Given the description of an element on the screen output the (x, y) to click on. 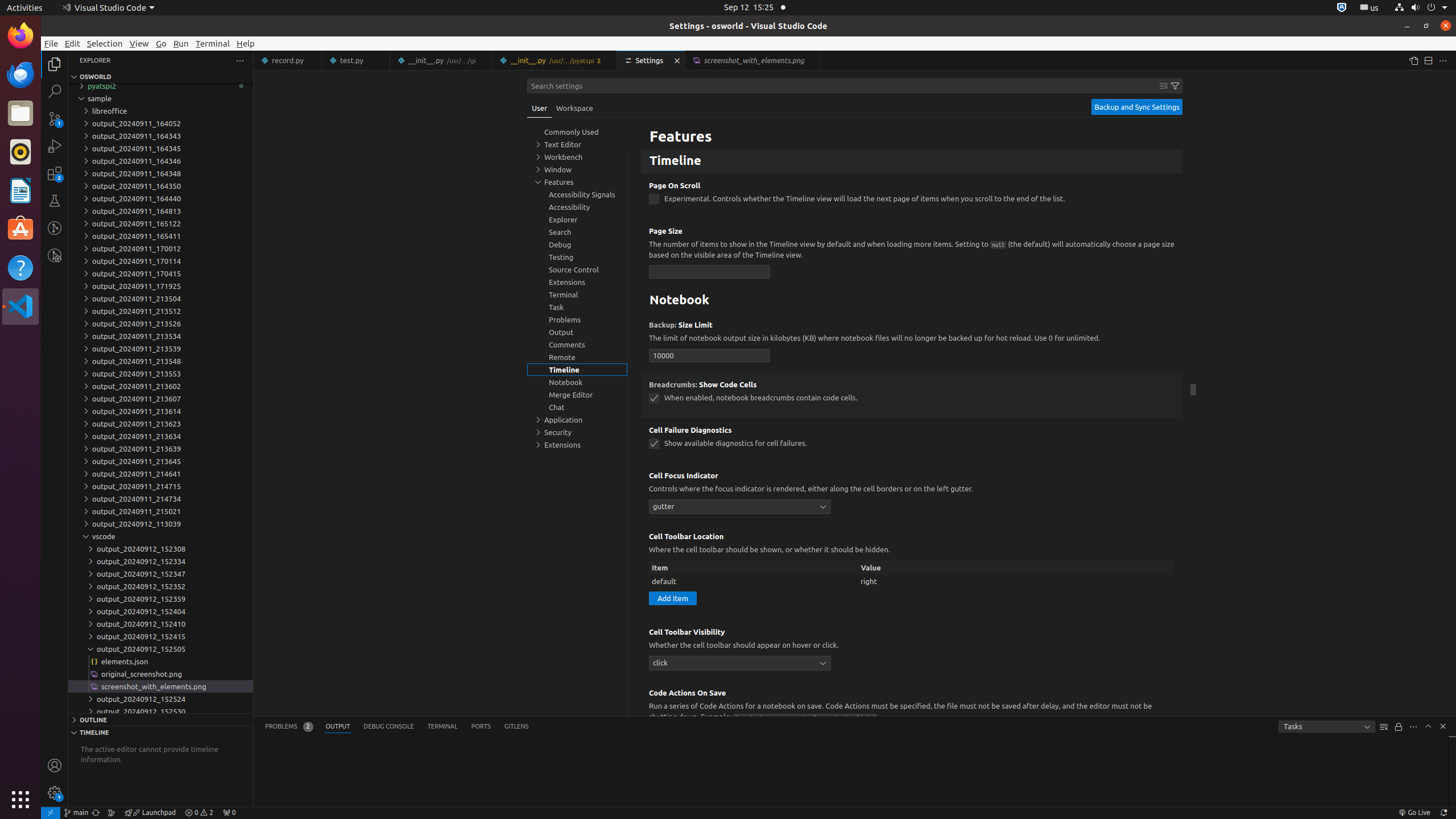
Timeline Section Element type: push-button (160, 731)
output_20240911_213623 Element type: tree-item (160, 423)
output_20240911_170012 Element type: tree-item (160, 248)
Breadcrumbs Show Code Cells. When enabled, notebook breadcrumbs contain code cells.  Element type: tree-item (911, 395)
output_20240911_213634 Element type: tree-item (160, 435)
